Given the description of an element on the screen output the (x, y) to click on. 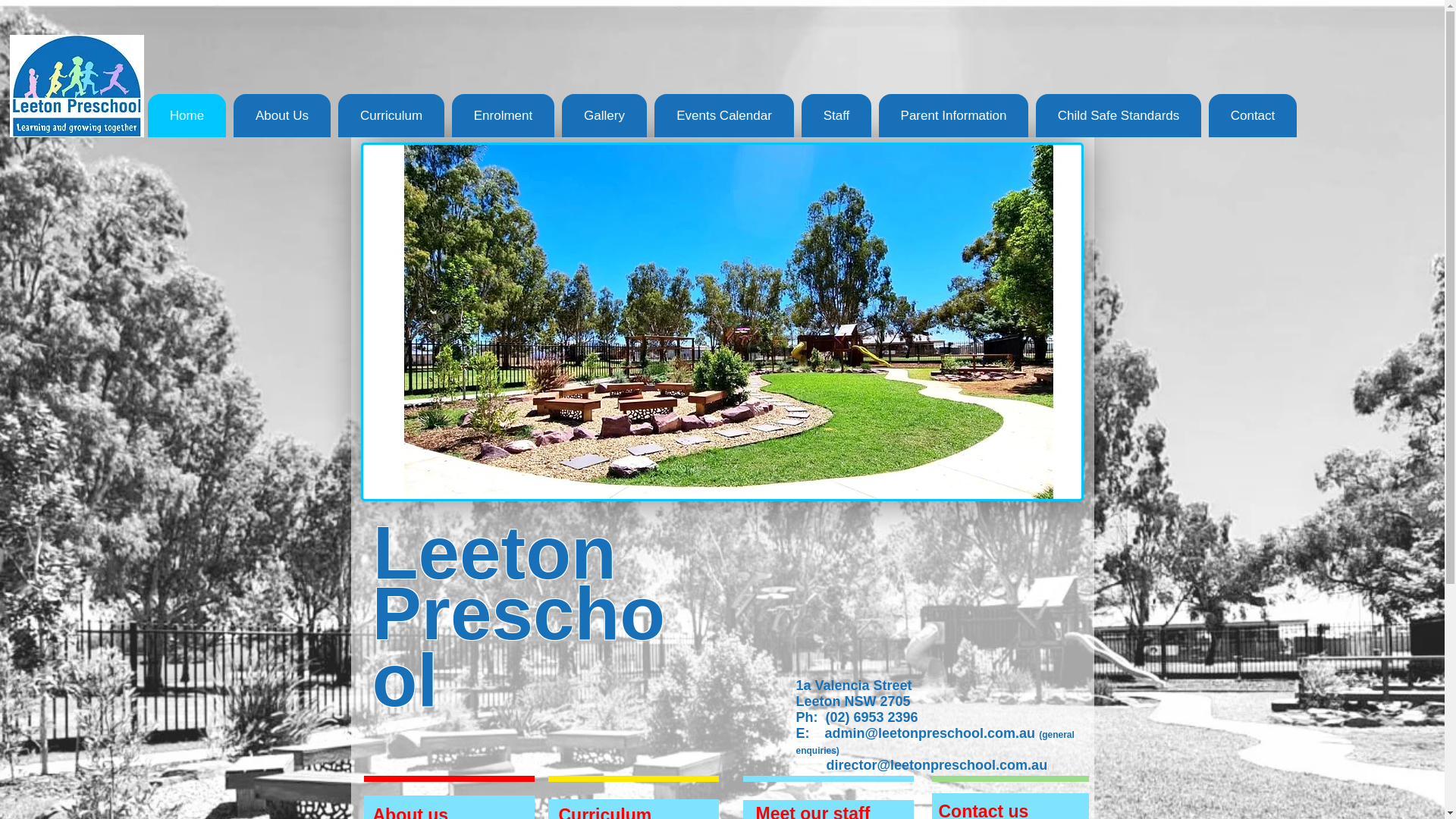
website%20pic-page-001_edited.jpg Element type: hover (721, 321)
Contact Element type: text (1252, 115)
Curriculum Element type: text (391, 115)
Enrolment Element type: text (502, 115)
Child Safe Standards Element type: text (1118, 115)
director@leetonpreschool.com.au Element type: text (937, 764)
Staff Element type: text (836, 115)
Parent Information Element type: text (953, 115)
Events Calendar Element type: text (723, 115)
Preschool Element type: text (518, 646)
admin@leetonpreschool.com.au Element type: text (930, 732)
Gallery Element type: text (603, 115)
Home Element type: text (186, 115)
About Us Element type: text (281, 115)
